Given the description of an element on the screen output the (x, y) to click on. 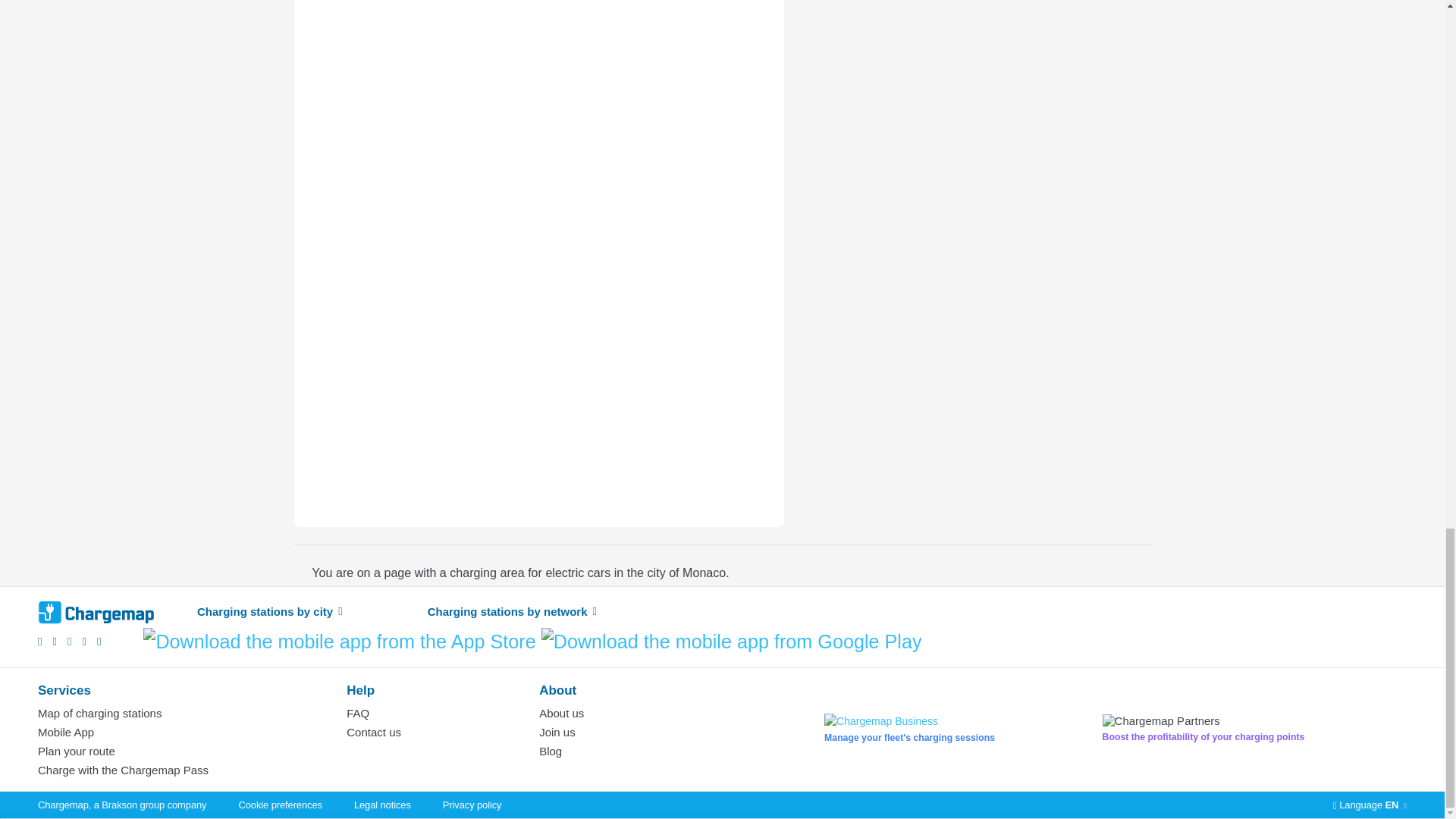
Charging stations by city (269, 611)
